Given the description of an element on the screen output the (x, y) to click on. 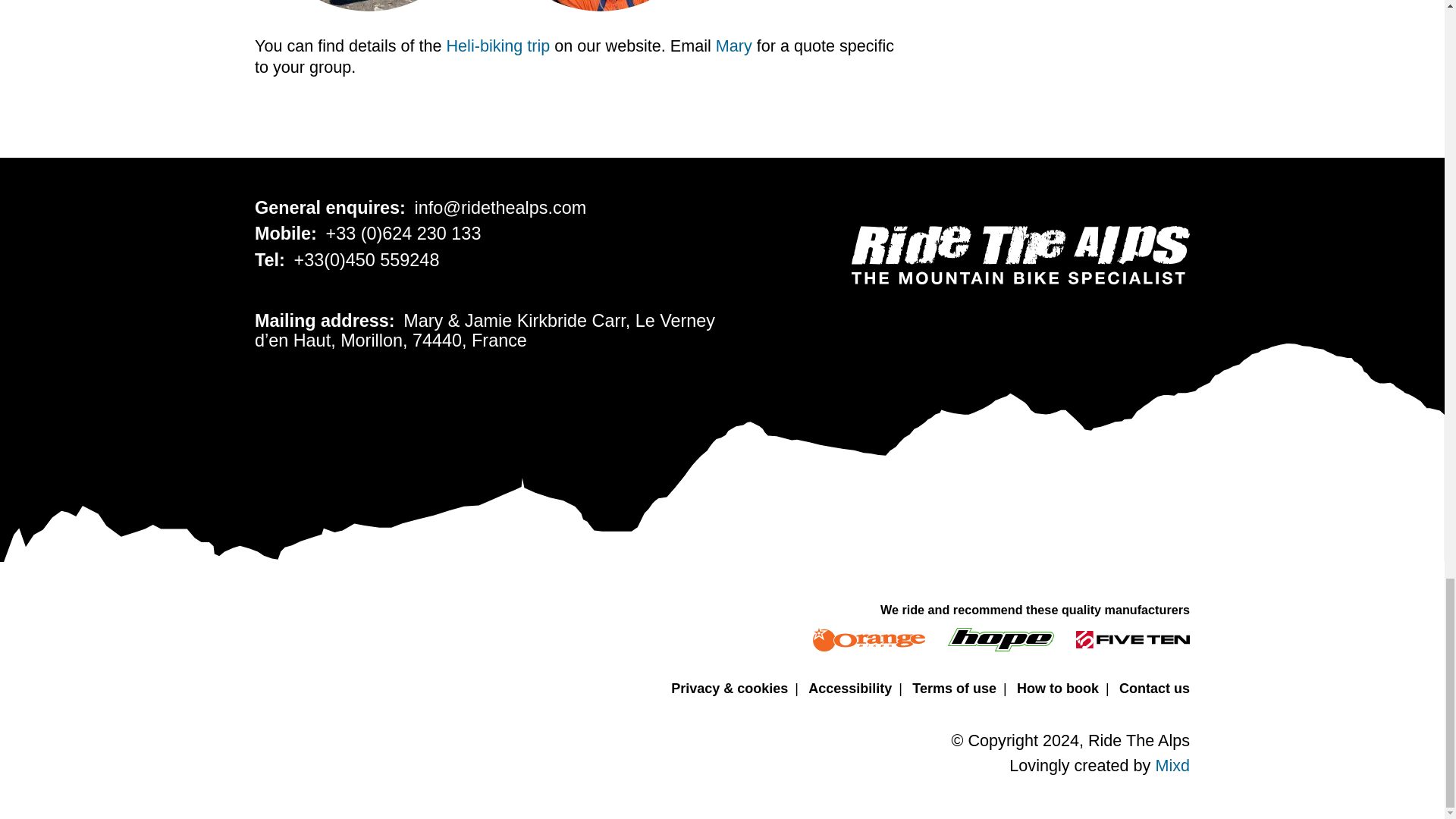
Ride The Alps (1020, 255)
Accessibility (849, 689)
Heli-biking trip (498, 45)
Terms of use (953, 689)
Mary (734, 45)
Contact us (1154, 689)
Mixd (1171, 764)
How to book (1057, 689)
